Given the description of an element on the screen output the (x, y) to click on. 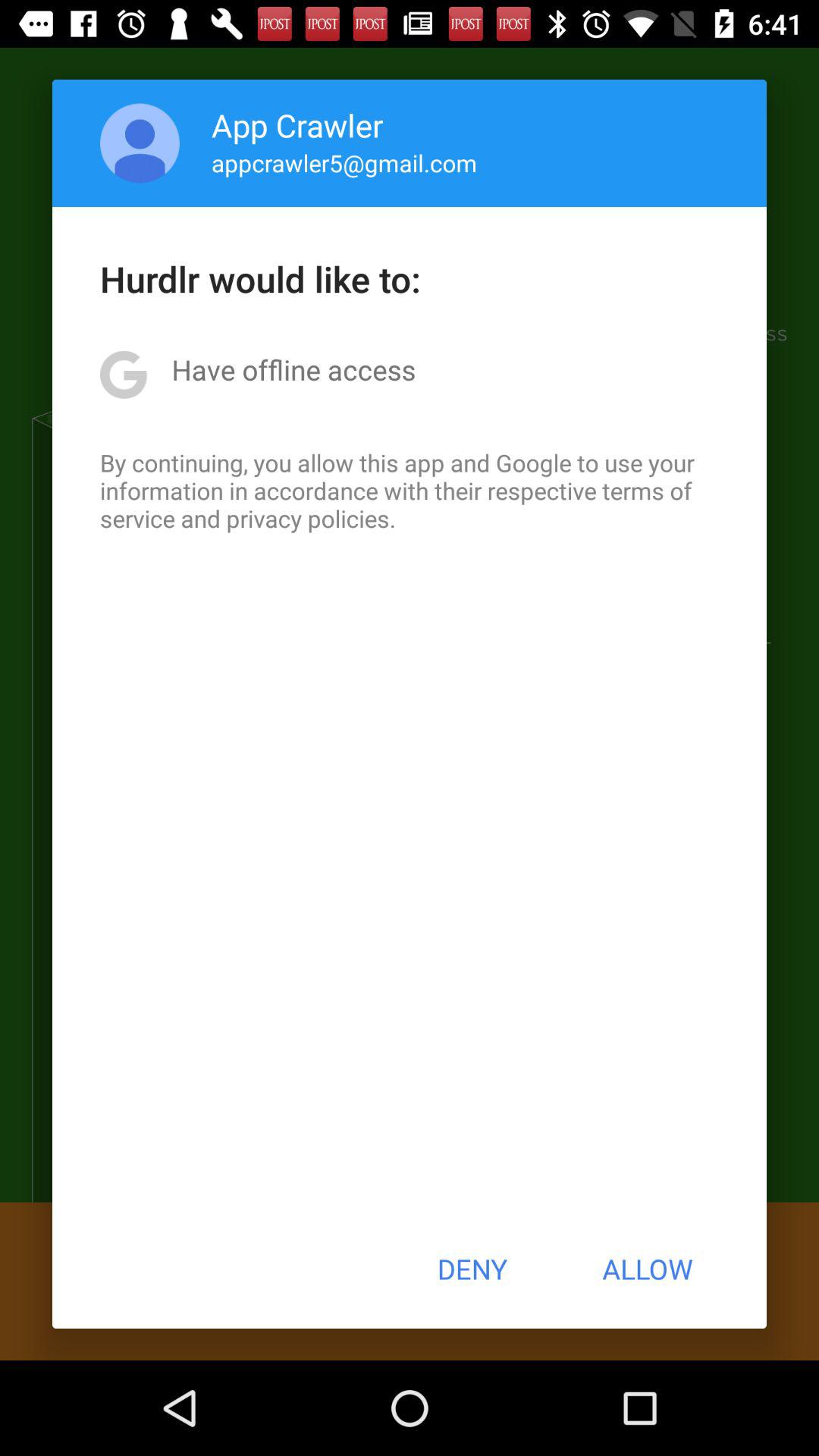
swipe until app crawler (297, 124)
